Given the description of an element on the screen output the (x, y) to click on. 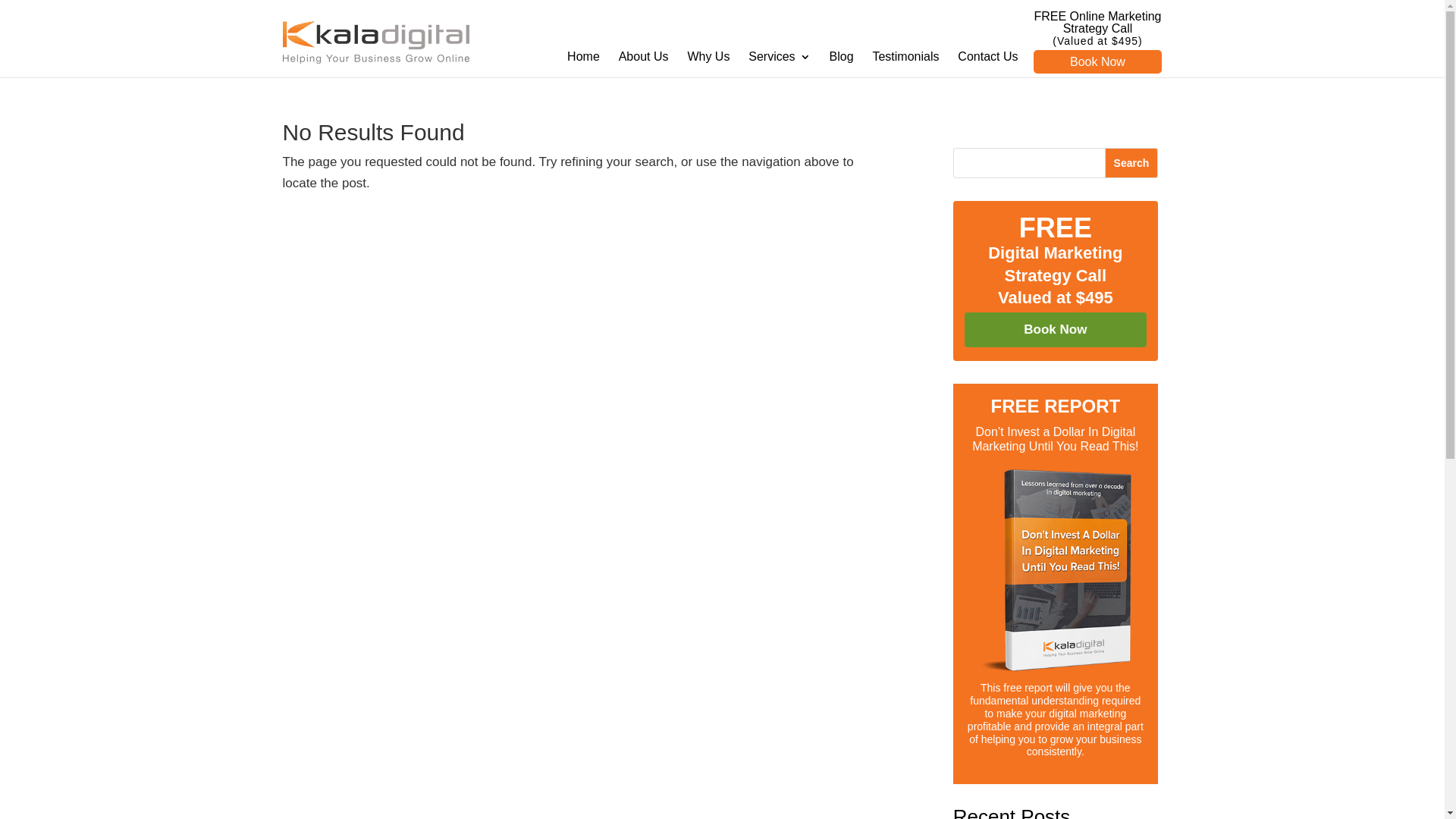
Book Now Element type: text (1097, 61)
Book Now Element type: text (1055, 329)
Testimonials Element type: text (905, 64)
Services Element type: text (778, 64)
Search Element type: text (1130, 162)
About Us Element type: text (643, 64)
Blog Element type: text (841, 64)
Why Us Element type: text (708, 64)
Home Element type: text (583, 64)
Contact Us Element type: text (987, 64)
